Given the description of an element on the screen output the (x, y) to click on. 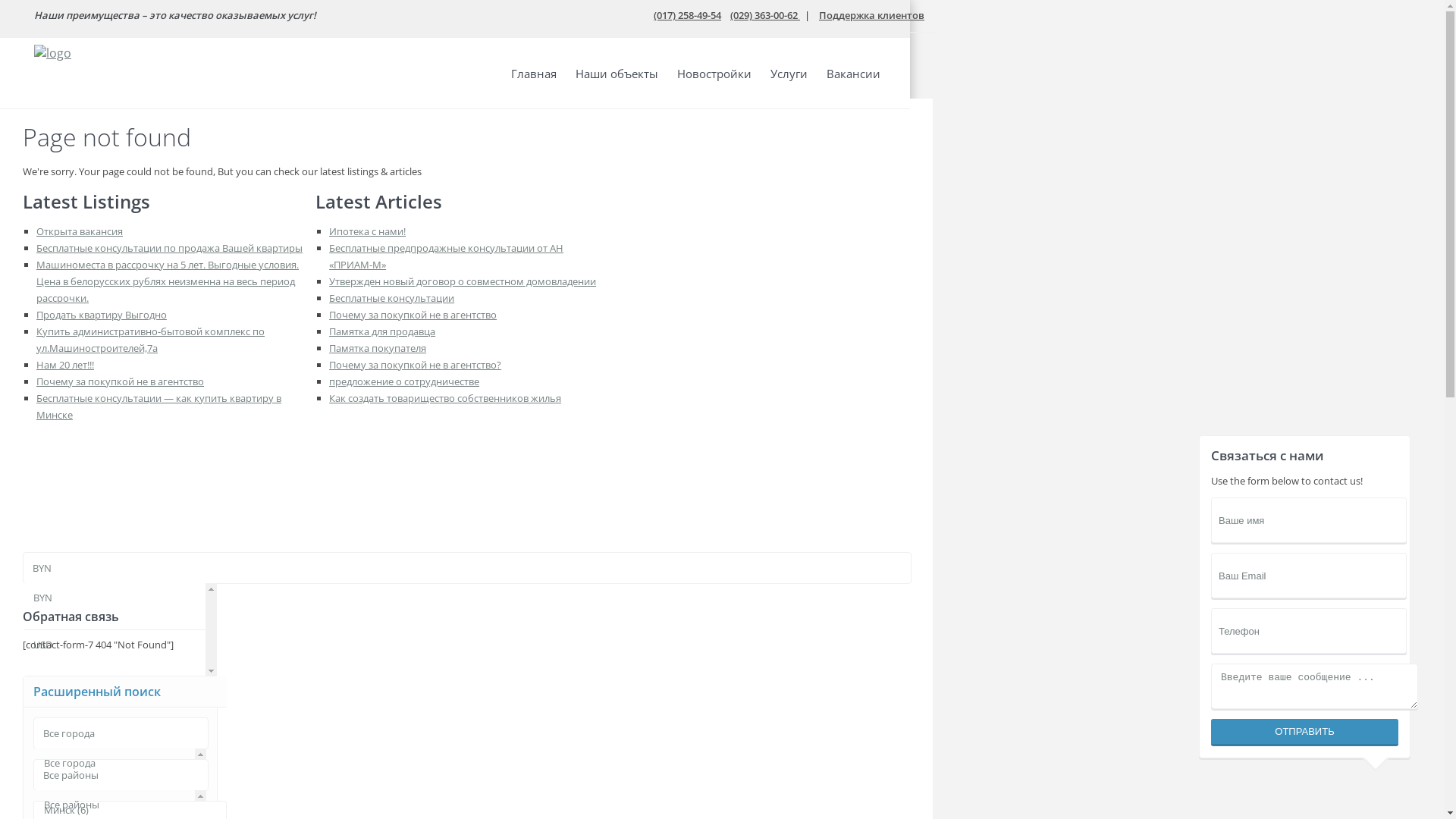
(017) 258-49-54 Element type: text (687, 15)
(029) 363-00-62 Element type: text (765, 15)
